Given the description of an element on the screen output the (x, y) to click on. 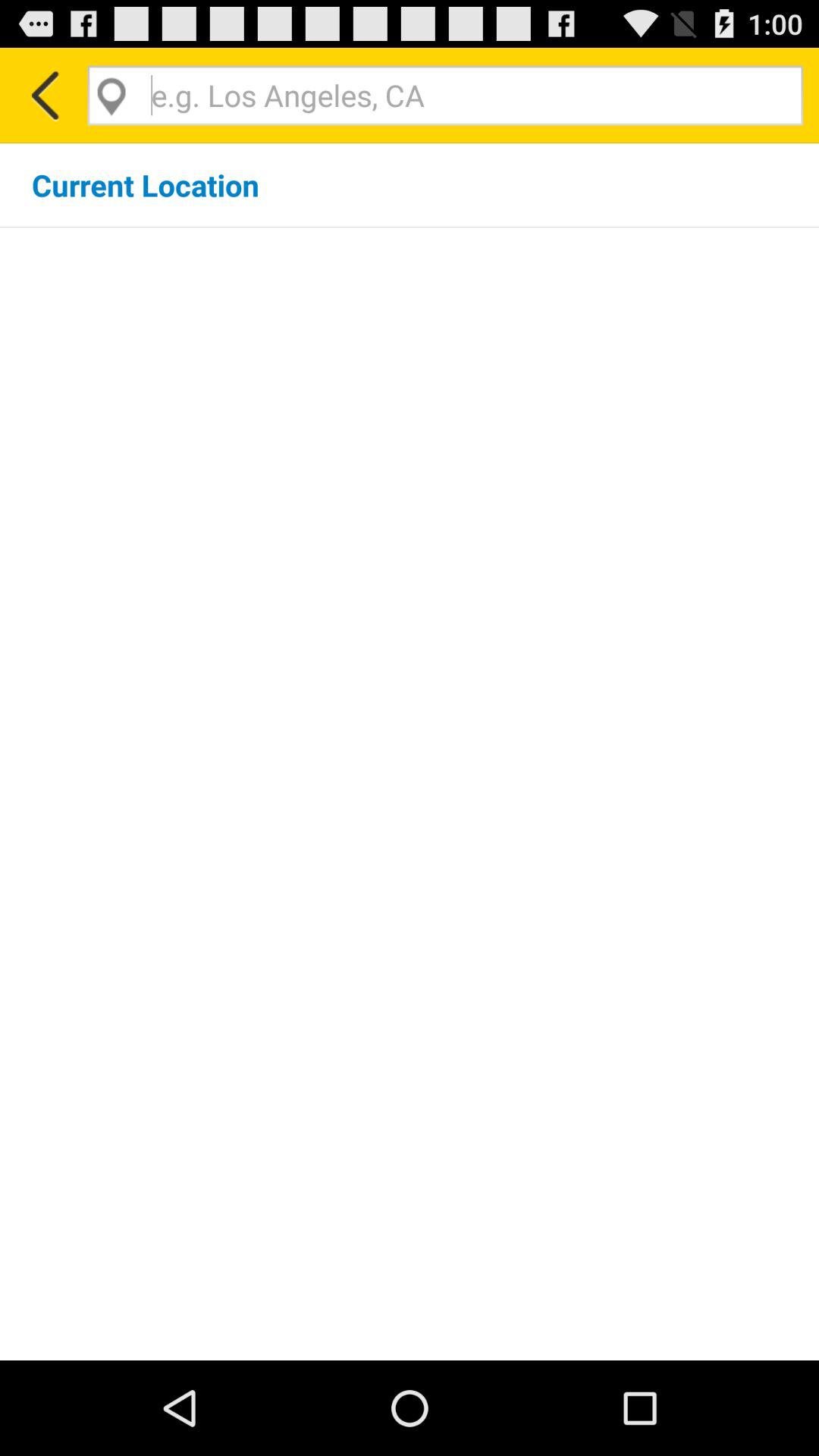
enter search (445, 95)
